Given the description of an element on the screen output the (x, y) to click on. 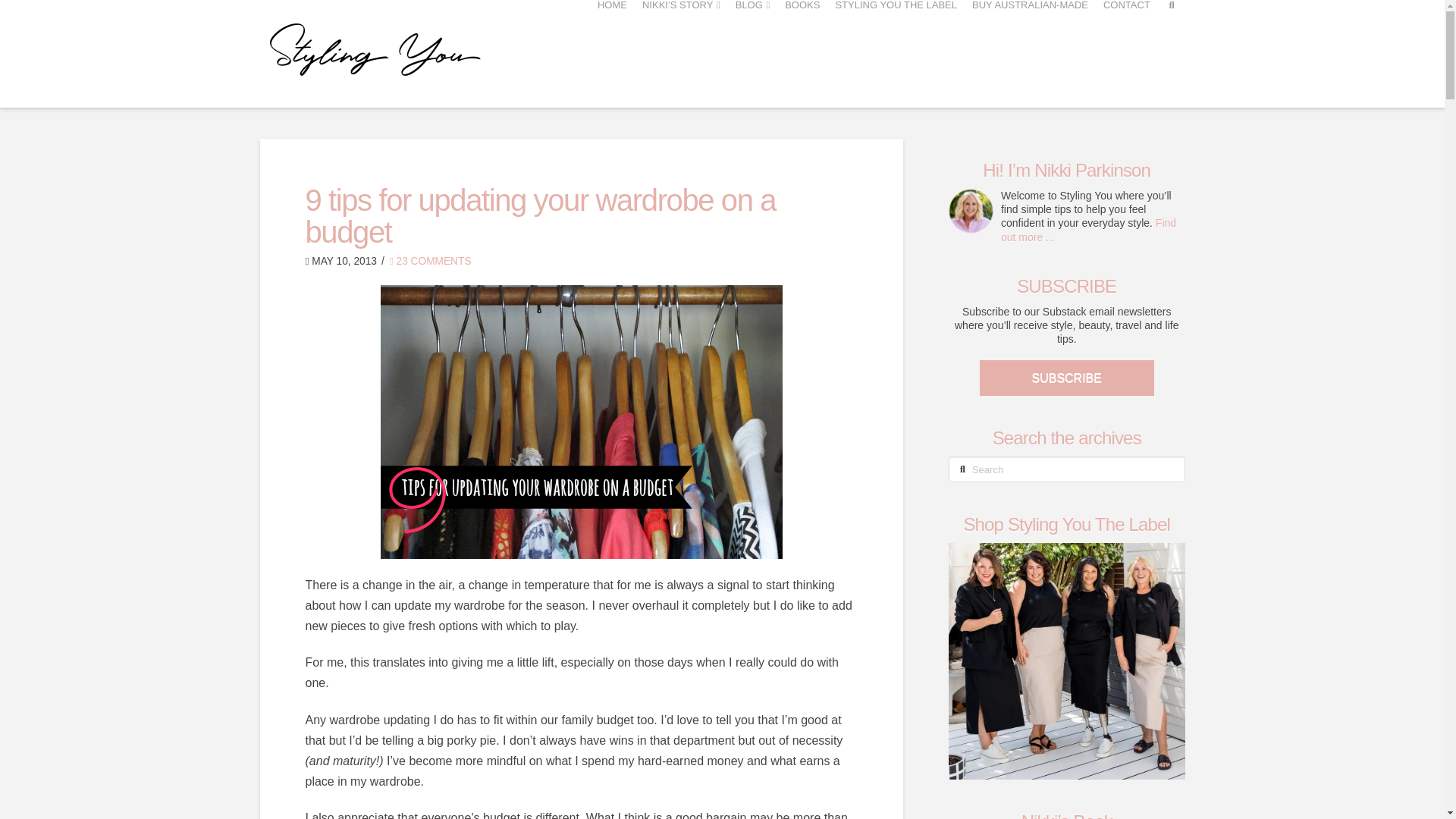
23 COMMENTS (430, 260)
STYLING YOU THE LABEL (895, 49)
BUY AUSTRALIAN-MADE (1029, 49)
